Given the description of an element on the screen output the (x, y) to click on. 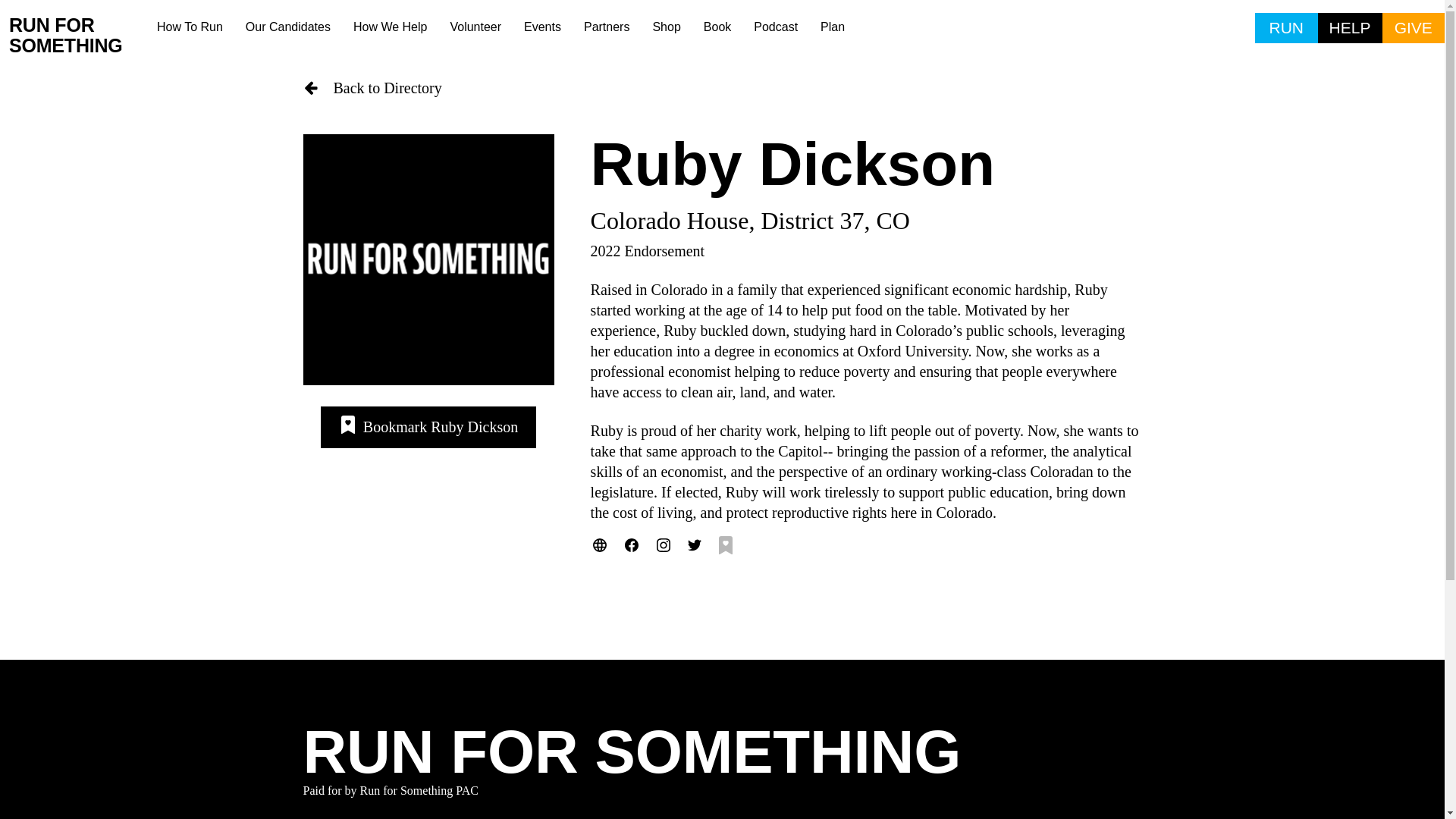
Book (717, 27)
Shop (665, 27)
How We Help (390, 27)
Events (542, 27)
RUN FOR SOMETHING (76, 35)
Plan (832, 27)
Volunteer (475, 27)
Bookmark (427, 426)
Back to Directory (721, 87)
Bookmark Ruby Dickson (427, 426)
Our Candidates (288, 27)
How To Run (189, 27)
Partners (606, 27)
RUN (1286, 28)
Podcast (775, 27)
